Given the description of an element on the screen output the (x, y) to click on. 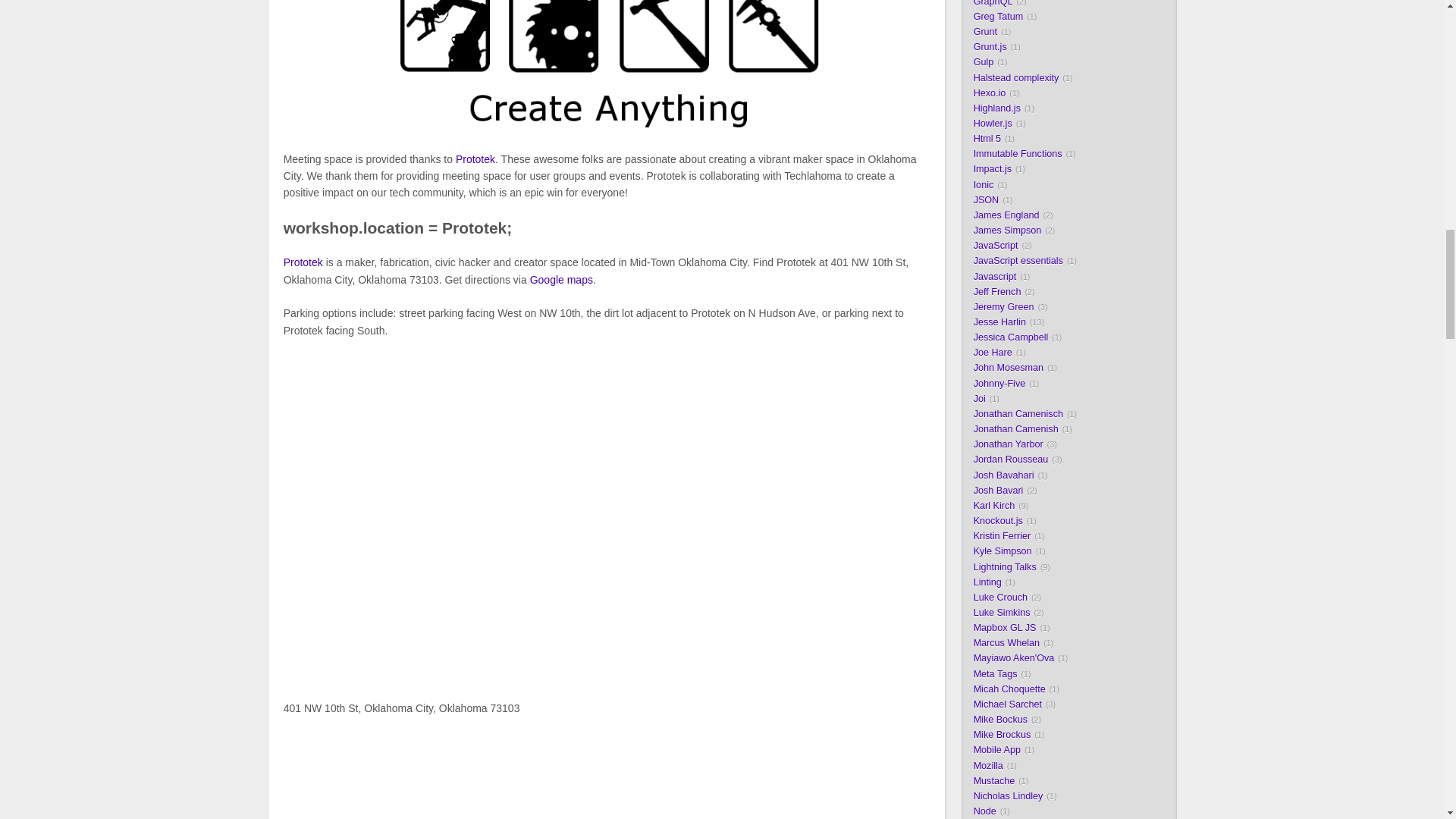
Prototek (475, 159)
Prototek (303, 262)
Google maps (560, 278)
